Given the description of an element on the screen output the (x, y) to click on. 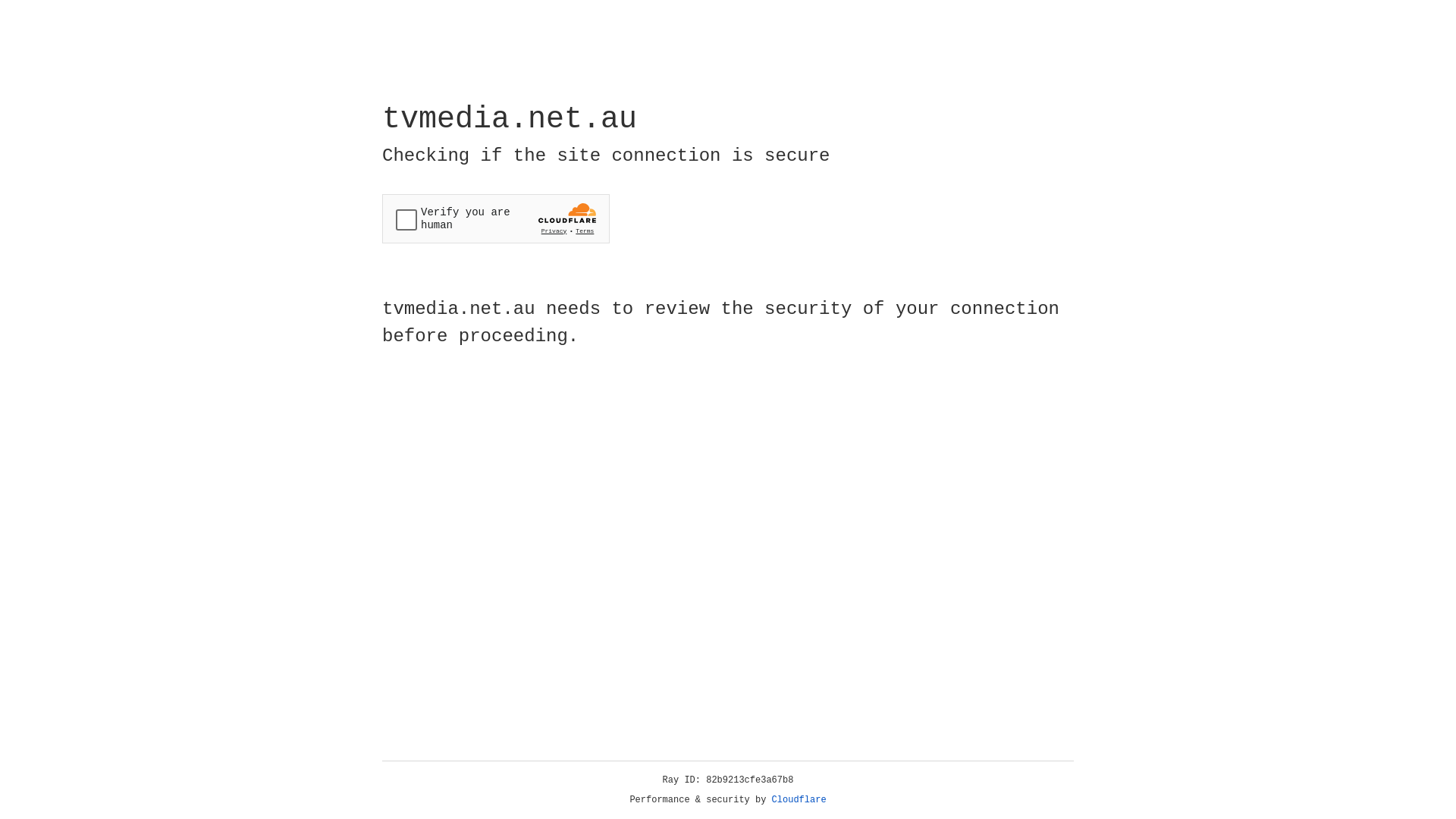
Widget containing a Cloudflare security challenge Element type: hover (495, 218)
Cloudflare Element type: text (798, 799)
